Given the description of an element on the screen output the (x, y) to click on. 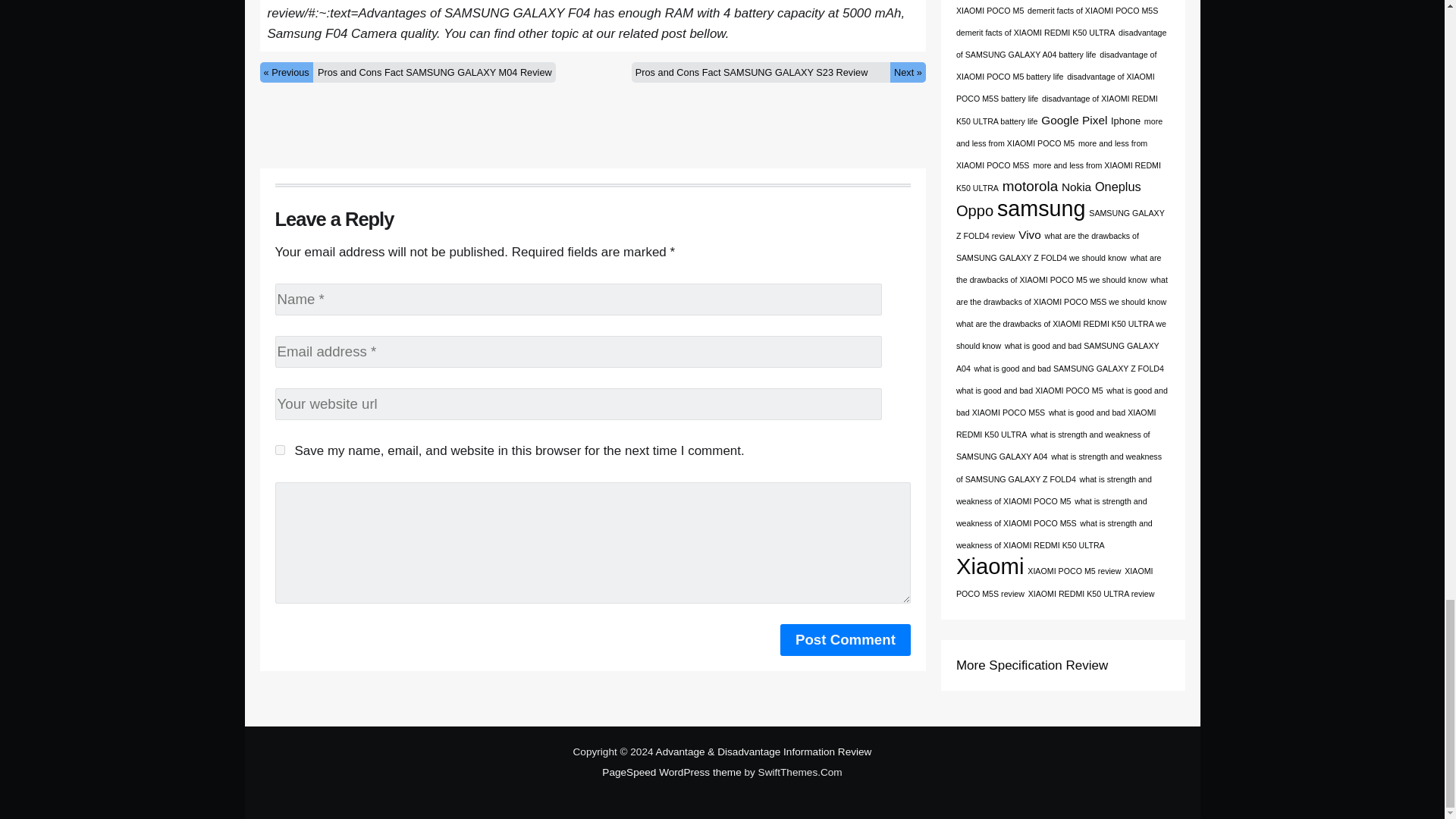
yes (279, 450)
Fast and lite weight WP themes (671, 772)
Post Comment (845, 640)
Post Comment (845, 640)
